Given the description of an element on the screen output the (x, y) to click on. 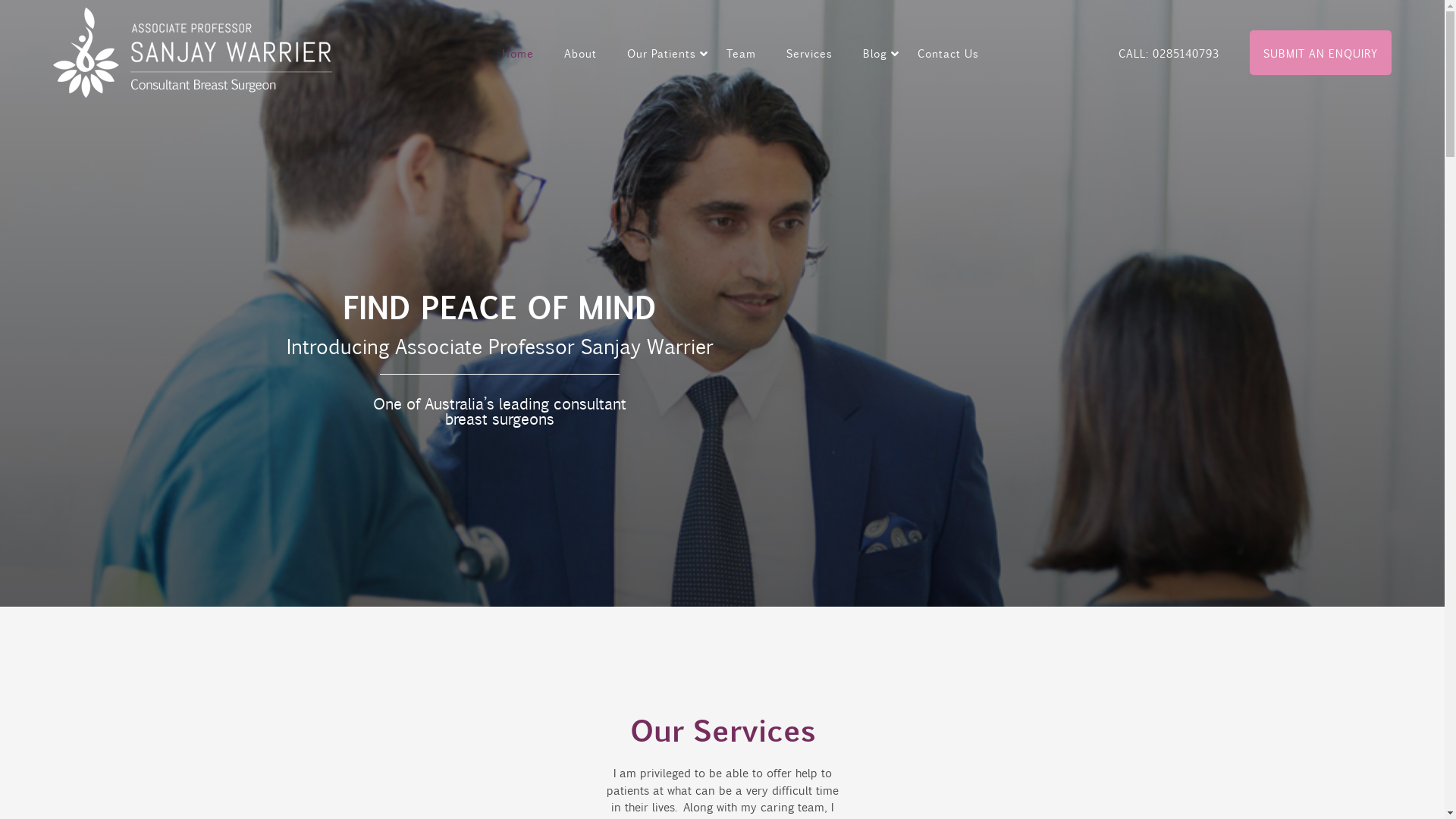
CALL: 0285140793 Element type: text (1168, 52)
Blog Element type: text (880, 52)
Our Patients Element type: text (667, 52)
Contact Us Element type: text (948, 52)
About Element type: text (580, 52)
Team Element type: text (741, 52)
SUBMIT AN ENQUIRY Element type: text (1320, 52)
Home Element type: text (517, 52)
Services Element type: text (809, 52)
